Given the description of an element on the screen output the (x, y) to click on. 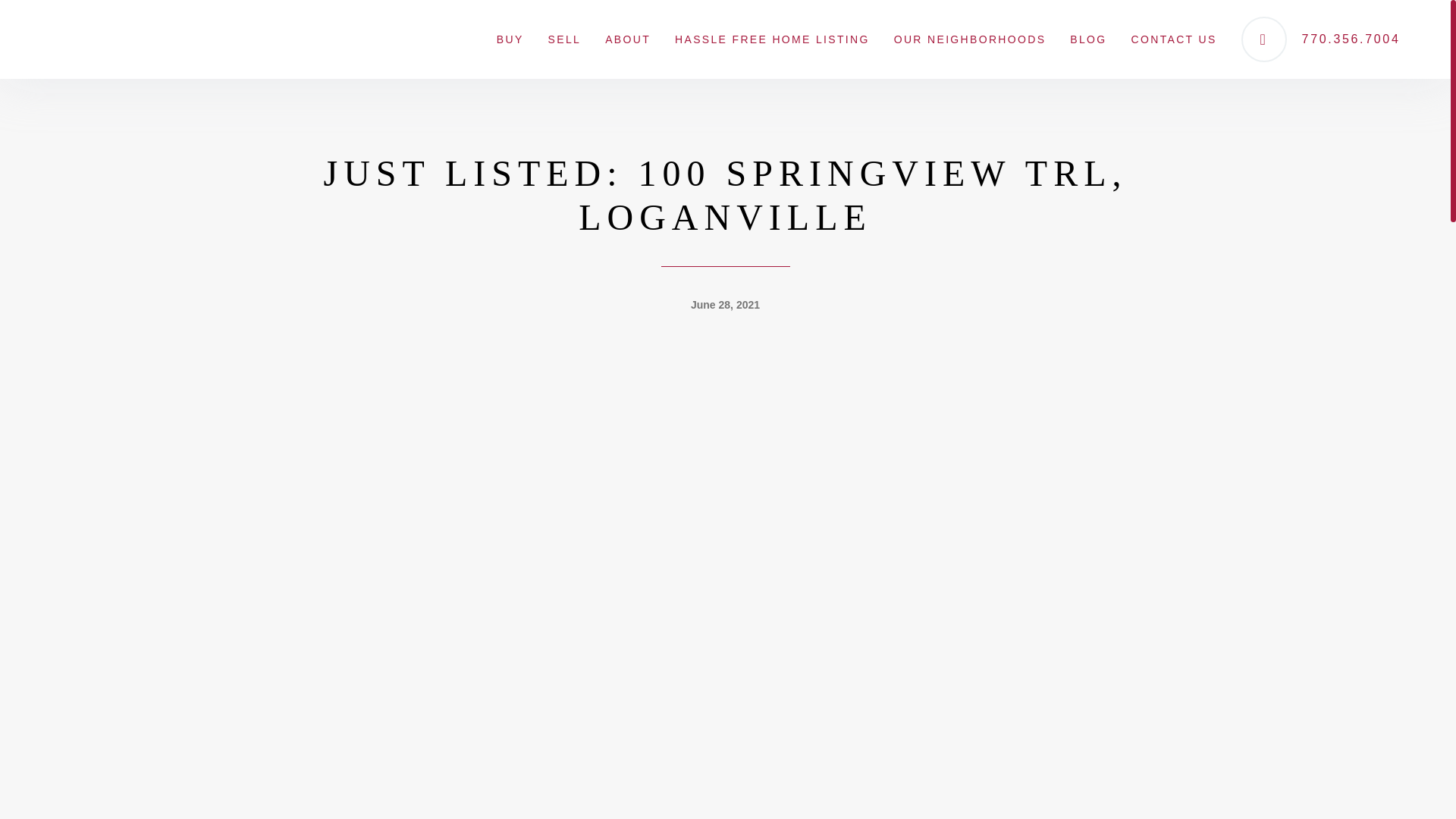
HASSLE FREE HOME LISTING (772, 39)
770.356.7004 (1320, 39)
ABOUT (627, 39)
SELL (564, 39)
OUR NEIGHBORHOODS (970, 39)
CONTACT US (1173, 39)
BLOG (1088, 39)
BUY (509, 39)
